Given the description of an element on the screen output the (x, y) to click on. 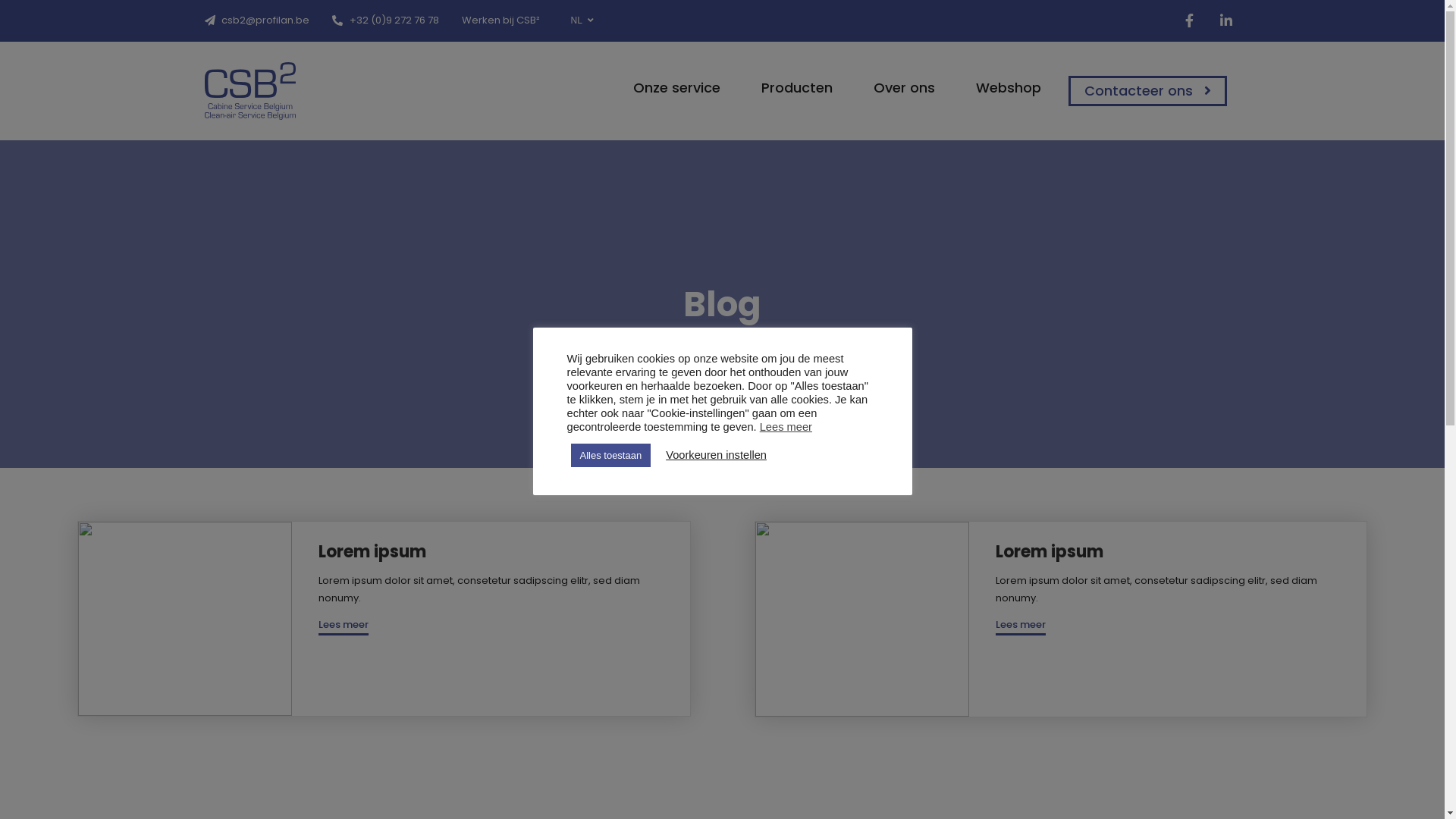
+32 (0)9 272 76 78 Element type: text (385, 19)
Over ons Element type: text (897, 87)
Webshop Element type: text (1001, 87)
Lees meer Element type: text (785, 426)
Voorkeuren instellen Element type: text (715, 454)
Alles toestaan Element type: text (610, 454)
Lees meer Element type: text (1020, 625)
Lorem ipsum Element type: text (1049, 551)
Contacteer ons Element type: text (1147, 90)
NL Element type: text (584, 20)
Producten Element type: text (789, 87)
Lorem ipsum Element type: text (372, 551)
csb2@profilan.be Element type: text (257, 19)
Onze service Element type: text (669, 87)
Lees meer Element type: text (343, 625)
